Given the description of an element on the screen output the (x, y) to click on. 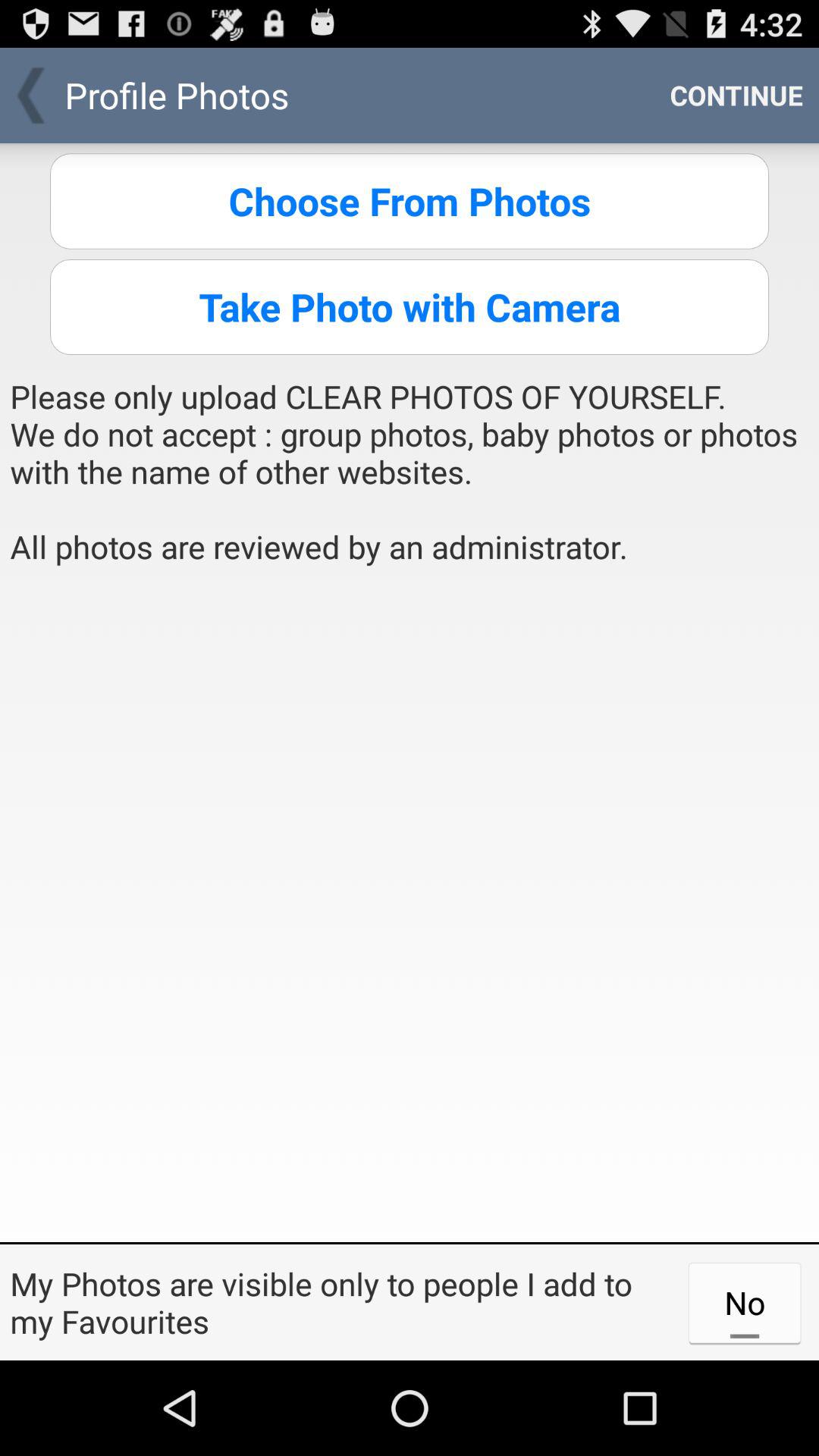
tap app to the right of profile photos (736, 95)
